Given the description of an element on the screen output the (x, y) to click on. 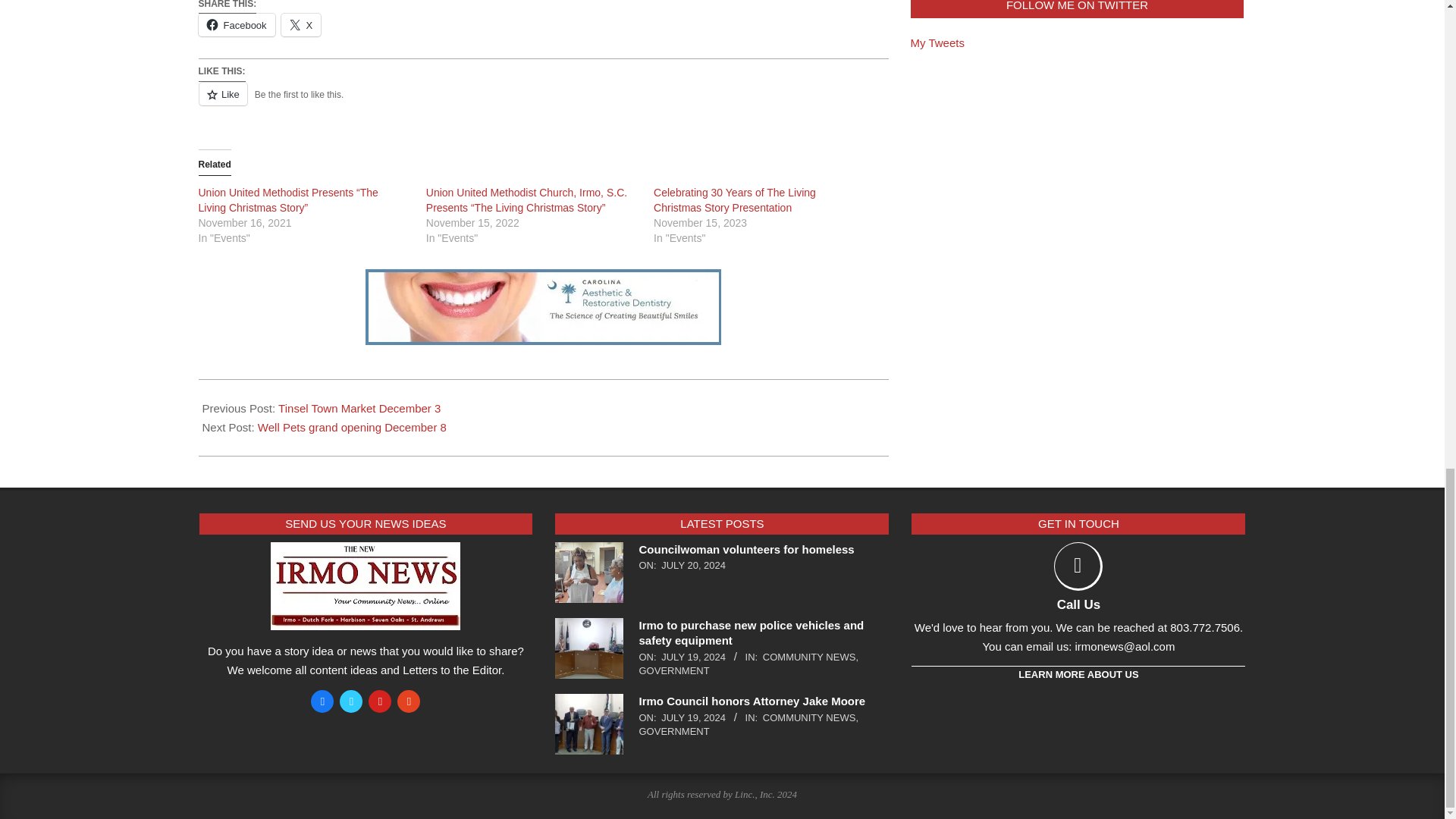
X (301, 24)
Saturday, July 20, 2024, 10:44 am (693, 564)
Click to share on X (301, 24)
Like or Reblog (543, 102)
Click to share on Facebook (236, 24)
Friday, July 19, 2024, 1:34 pm (693, 656)
Facebook (236, 24)
Friday, July 19, 2024, 1:15 pm (693, 717)
